Given the description of an element on the screen output the (x, y) to click on. 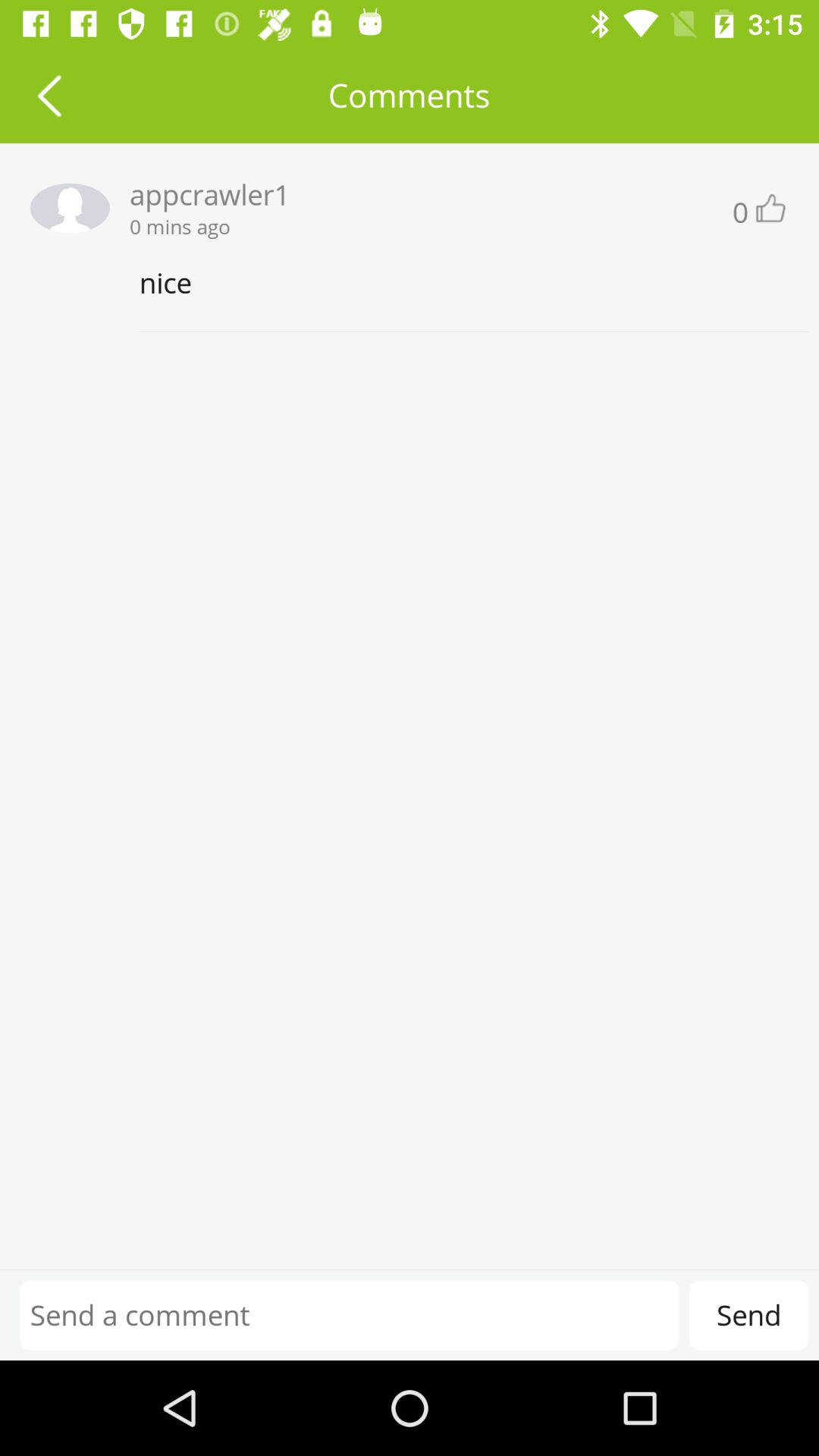
go to previous (48, 95)
